Given the description of an element on the screen output the (x, y) to click on. 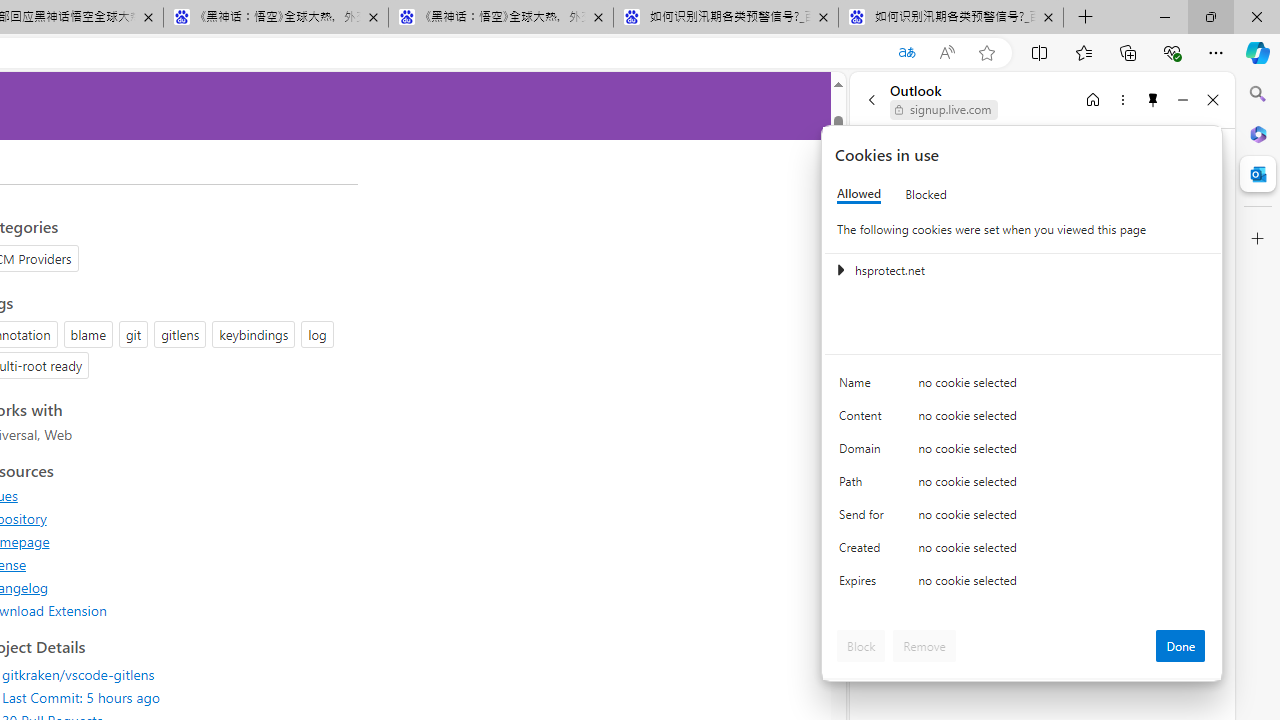
Translated (906, 53)
Content (864, 420)
signup.live.com (943, 110)
Done (1179, 645)
Remove (924, 645)
Created (864, 552)
Block (861, 645)
